Given the description of an element on the screen output the (x, y) to click on. 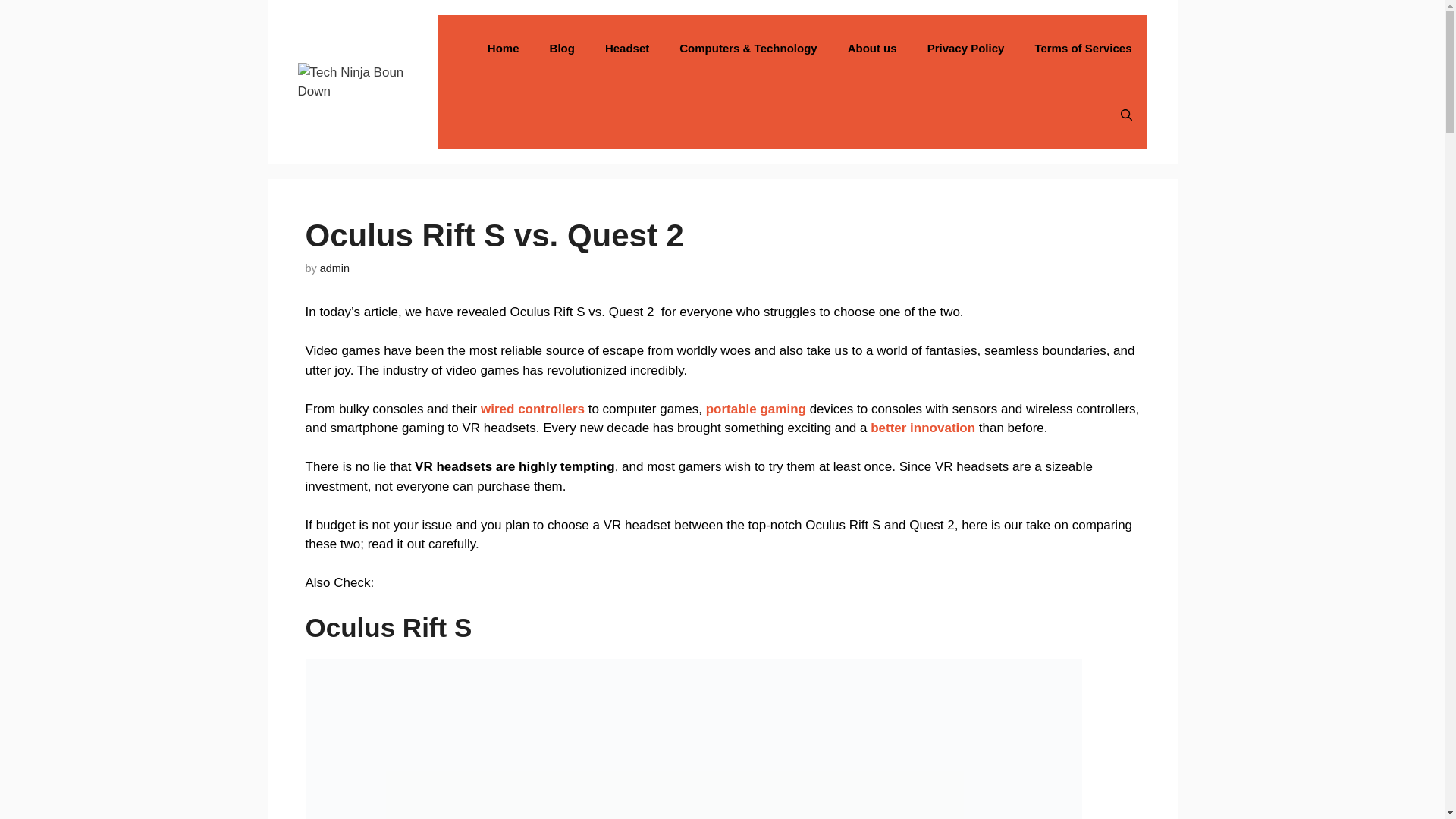
Home (502, 48)
better innovation (922, 427)
admin (334, 268)
View all posts by admin (334, 268)
Terms of Services (1083, 48)
Headset (626, 48)
wired controllers (531, 409)
Privacy Policy (966, 48)
About us (872, 48)
portable gaming (756, 409)
